Given the description of an element on the screen output the (x, y) to click on. 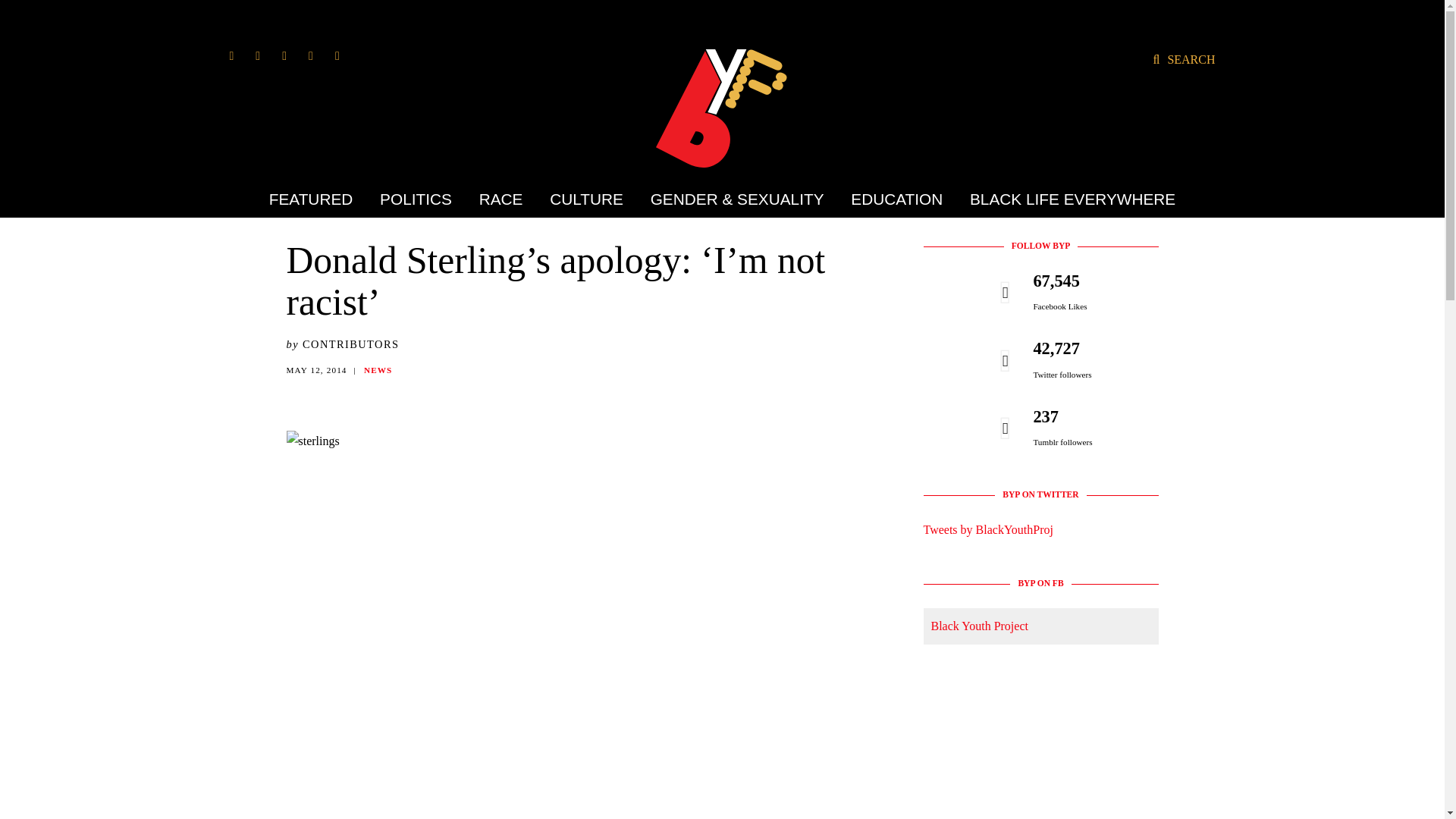
SEARCH (1183, 59)
BLACK LIFE EVERYWHERE (1066, 198)
CULTURE (586, 198)
by CONTRIBUTORS (342, 344)
RACE (500, 198)
POLITICS (415, 198)
NEWS (377, 369)
Tweets by BlackYouthProj (987, 529)
EDUCATION (896, 198)
FEATURED (317, 198)
